Given the description of an element on the screen output the (x, y) to click on. 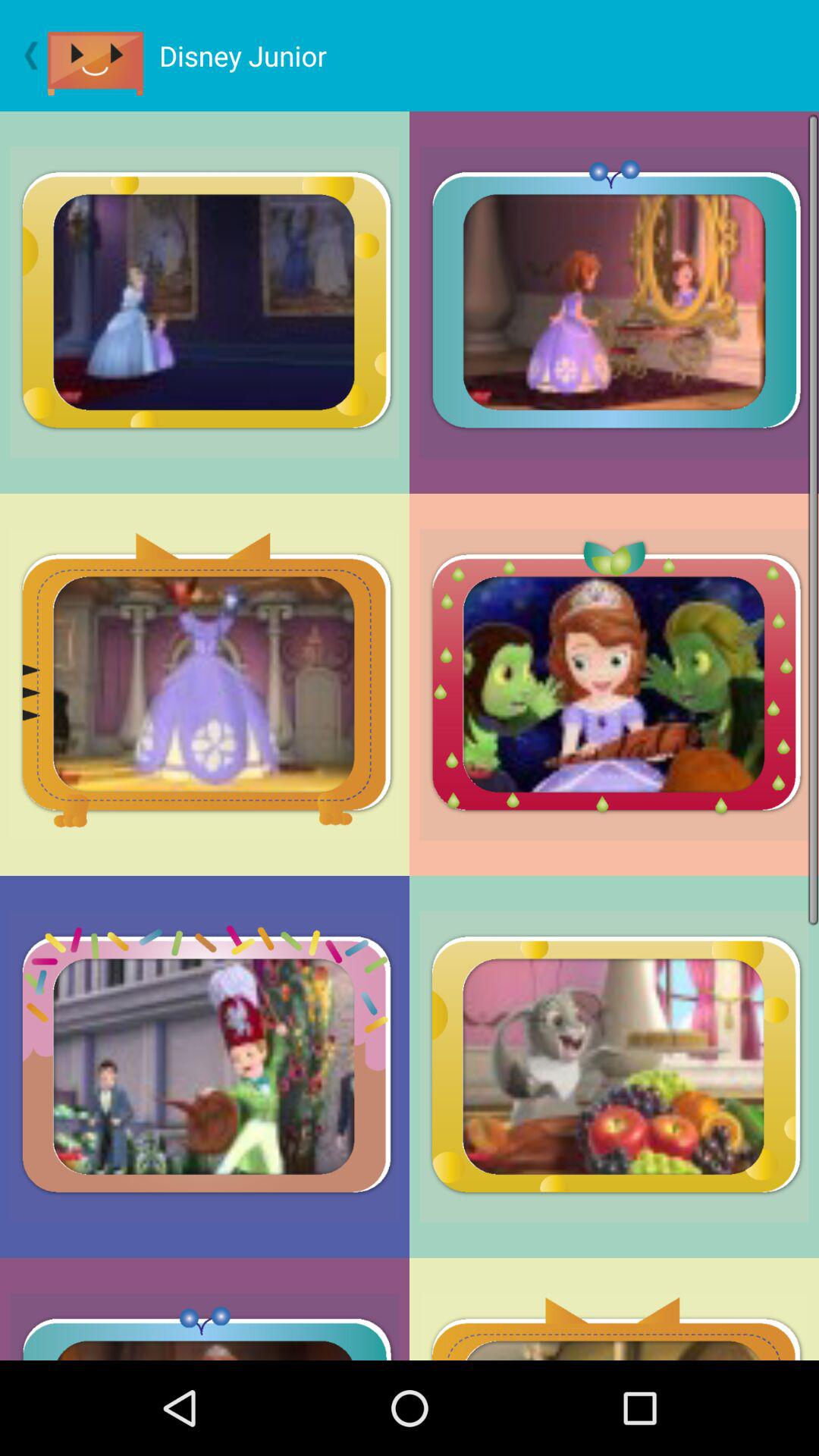
go back (23, 55)
